Given the description of an element on the screen output the (x, y) to click on. 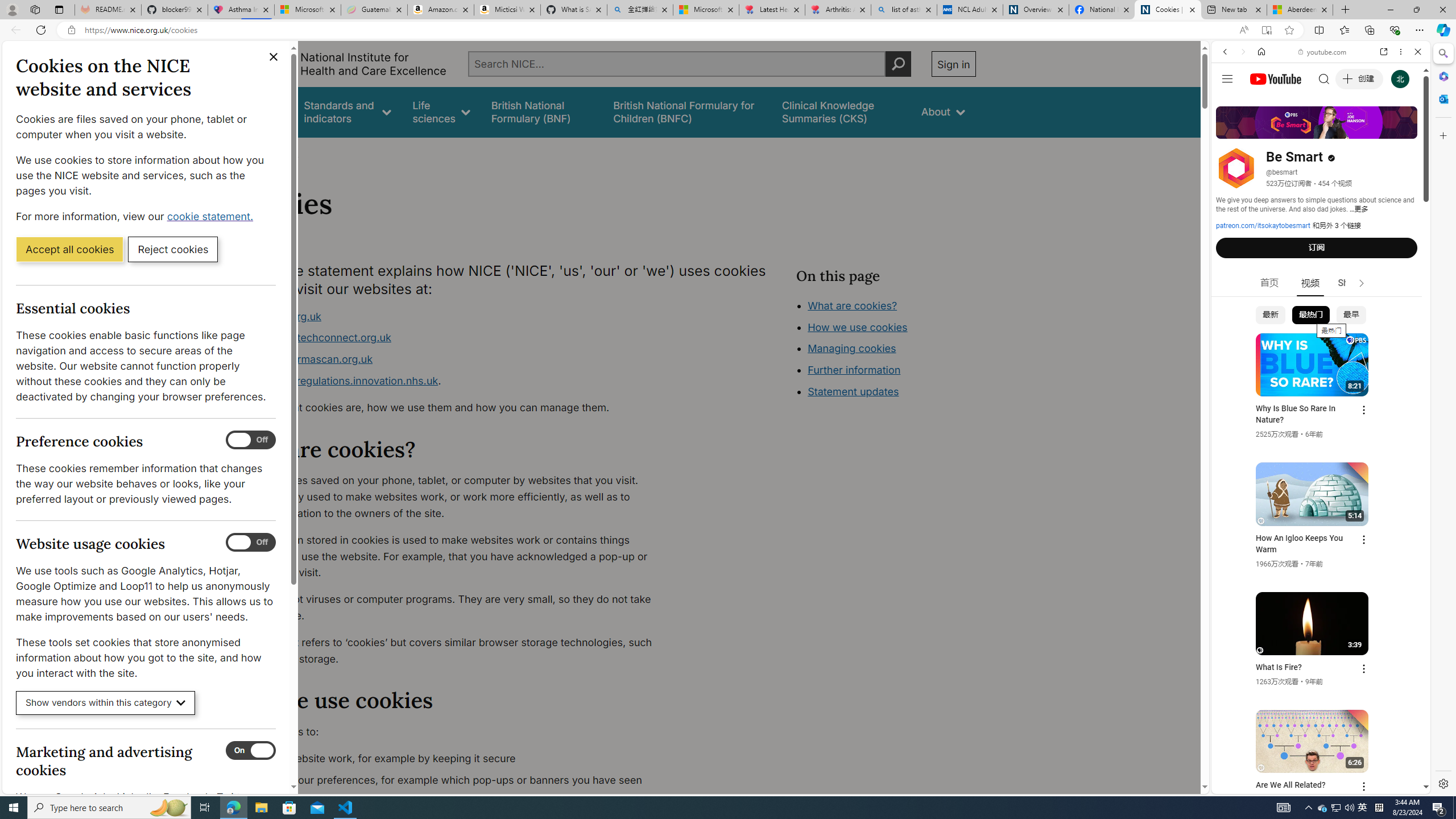
British National Formulary for Children (BNFC) (686, 111)
Statement updates (853, 391)
Preference cookies (250, 439)
youtube.com (1322, 51)
Close cookie banner (273, 56)
